Given the description of an element on the screen output the (x, y) to click on. 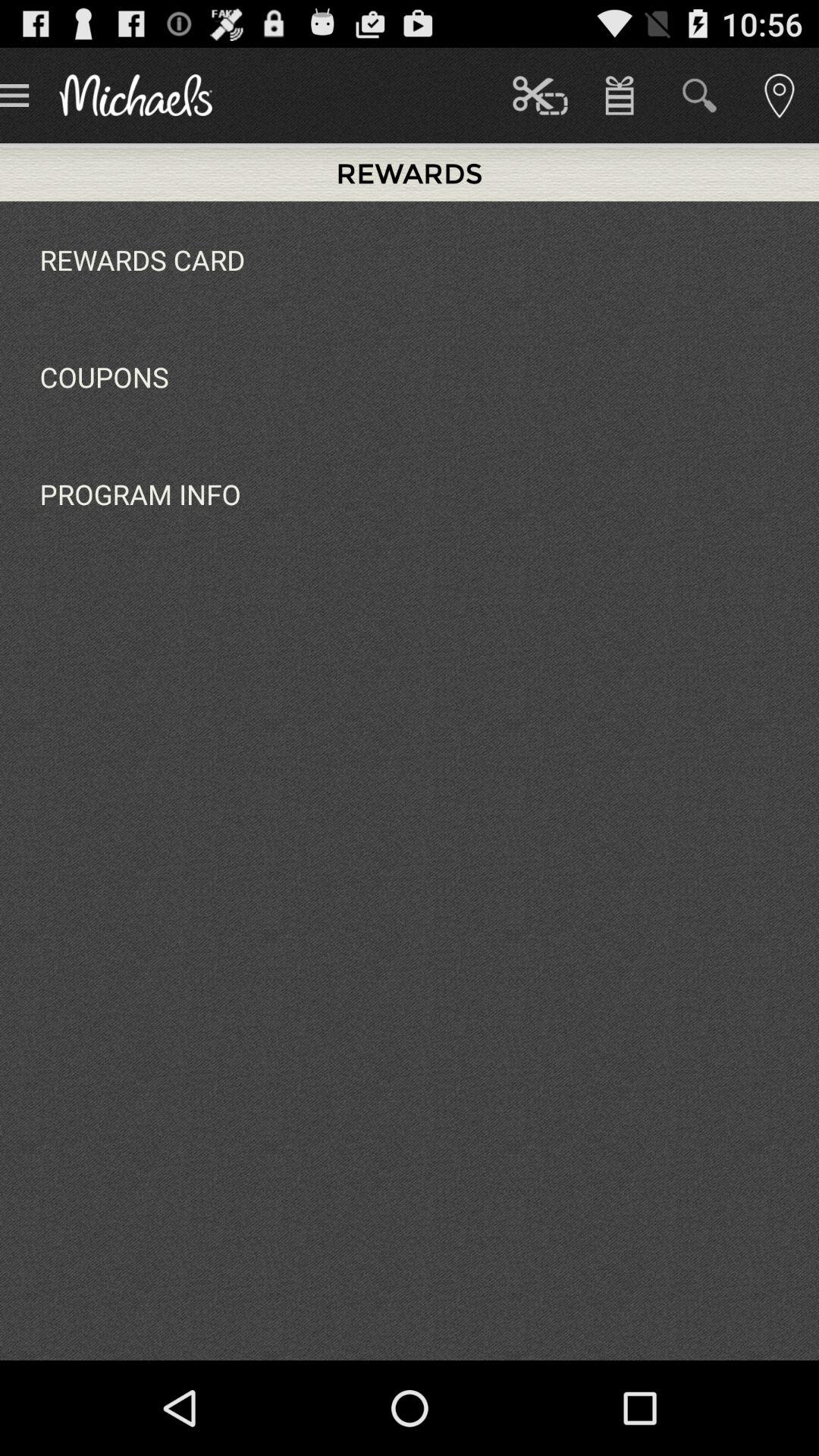
click program info (140, 494)
